Given the description of an element on the screen output the (x, y) to click on. 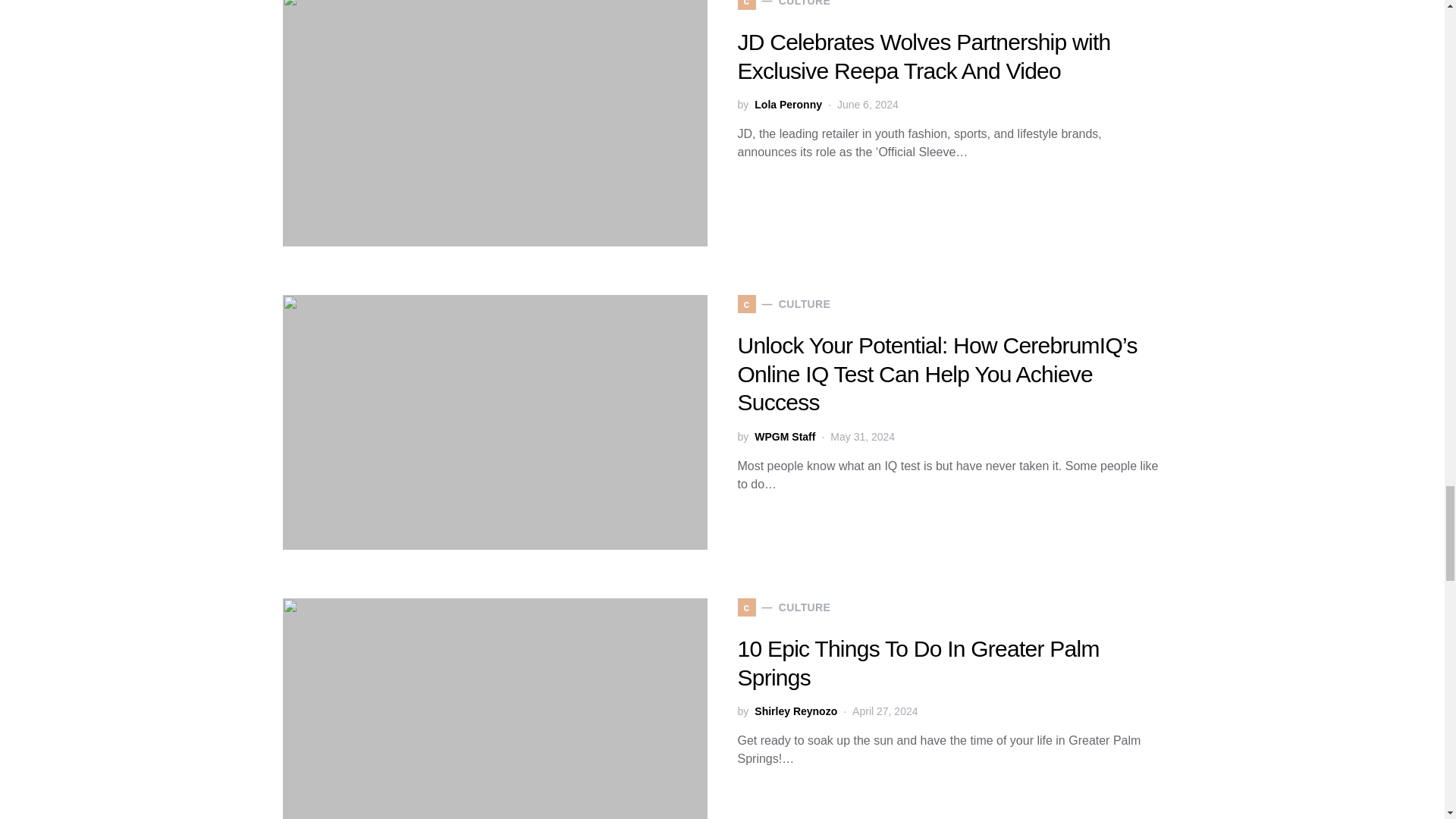
View all posts by Shirley Reynozo (795, 711)
View all posts by WPGM Staff (784, 437)
View all posts by Lola Peronny (788, 105)
